Given the description of an element on the screen output the (x, y) to click on. 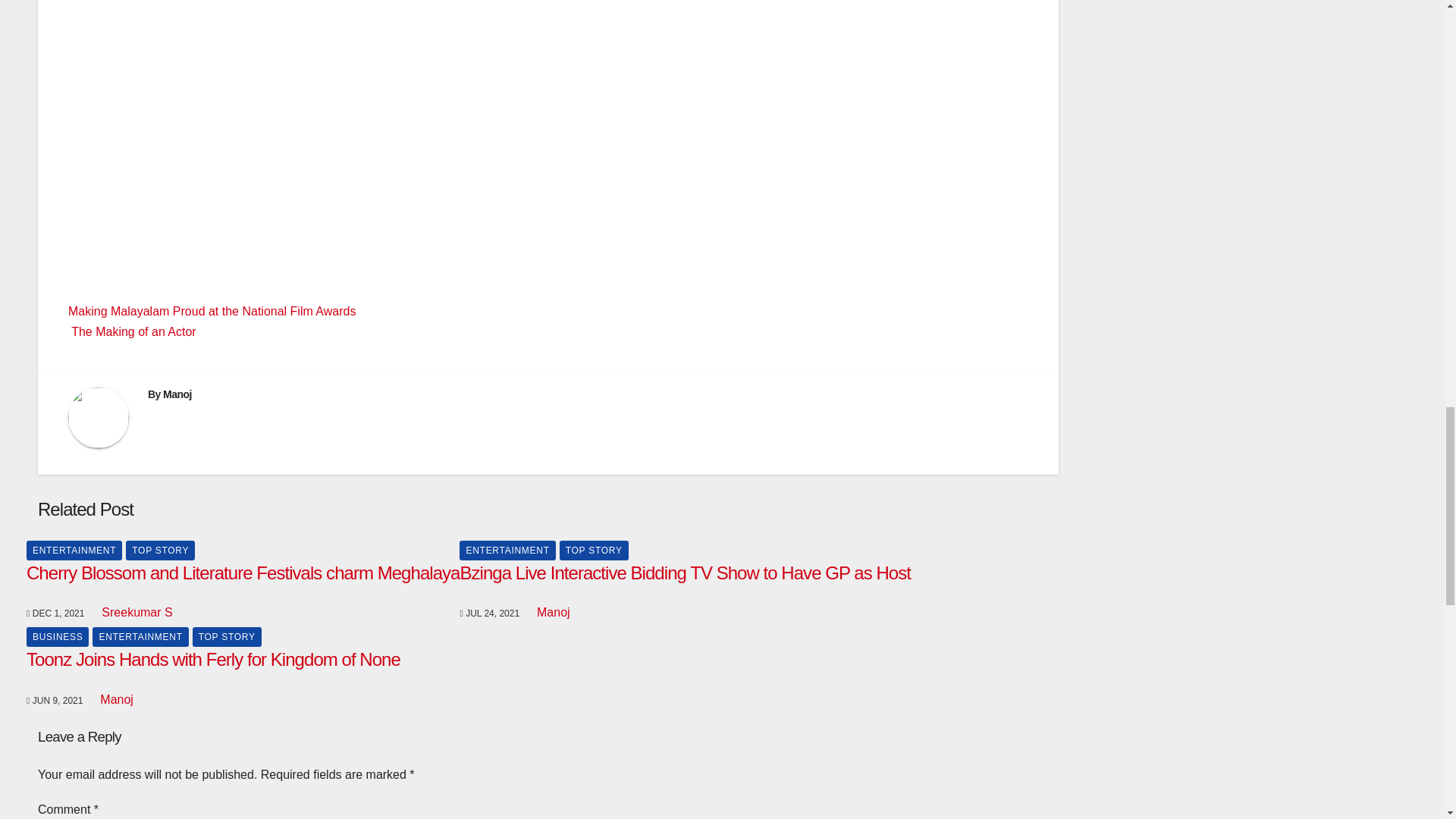
Manoj (115, 698)
The Making of an Actor (132, 331)
TOP STORY (160, 550)
Manoj (177, 394)
Manoj (552, 612)
Bzinga Live Interactive Bidding TV Show to Have GP as Host (685, 572)
ENTERTAINMENT (507, 550)
